Given the description of an element on the screen output the (x, y) to click on. 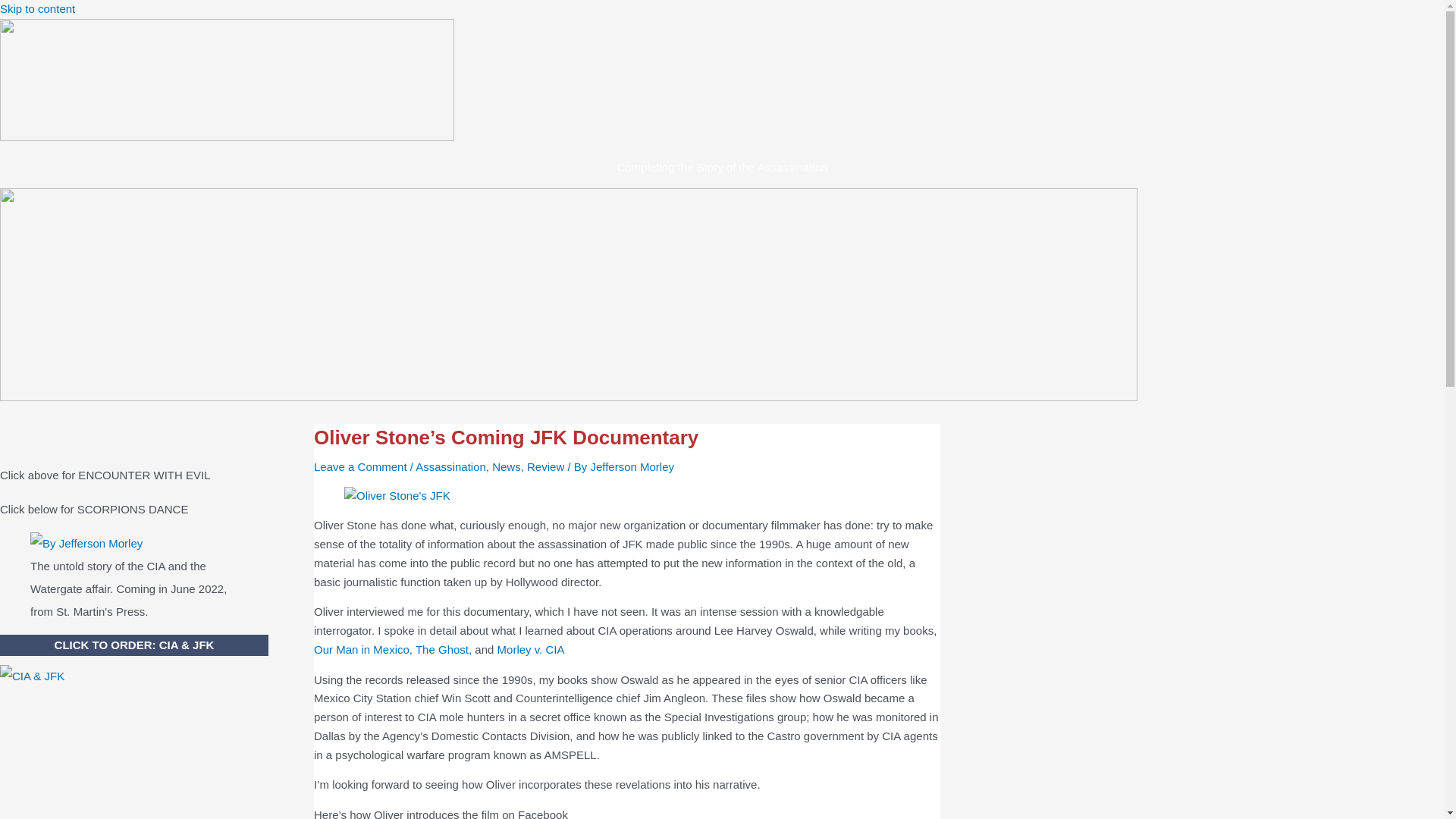
News (506, 466)
Morley v. CIA (530, 649)
Review (545, 466)
Completing the Story of the Assassination (722, 166)
Jefferson Morley (631, 466)
Book cover (86, 543)
Skip to content (37, 8)
Assassination (450, 466)
Skip to content (37, 8)
The Ghost, (442, 649)
